Given the description of an element on the screen output the (x, y) to click on. 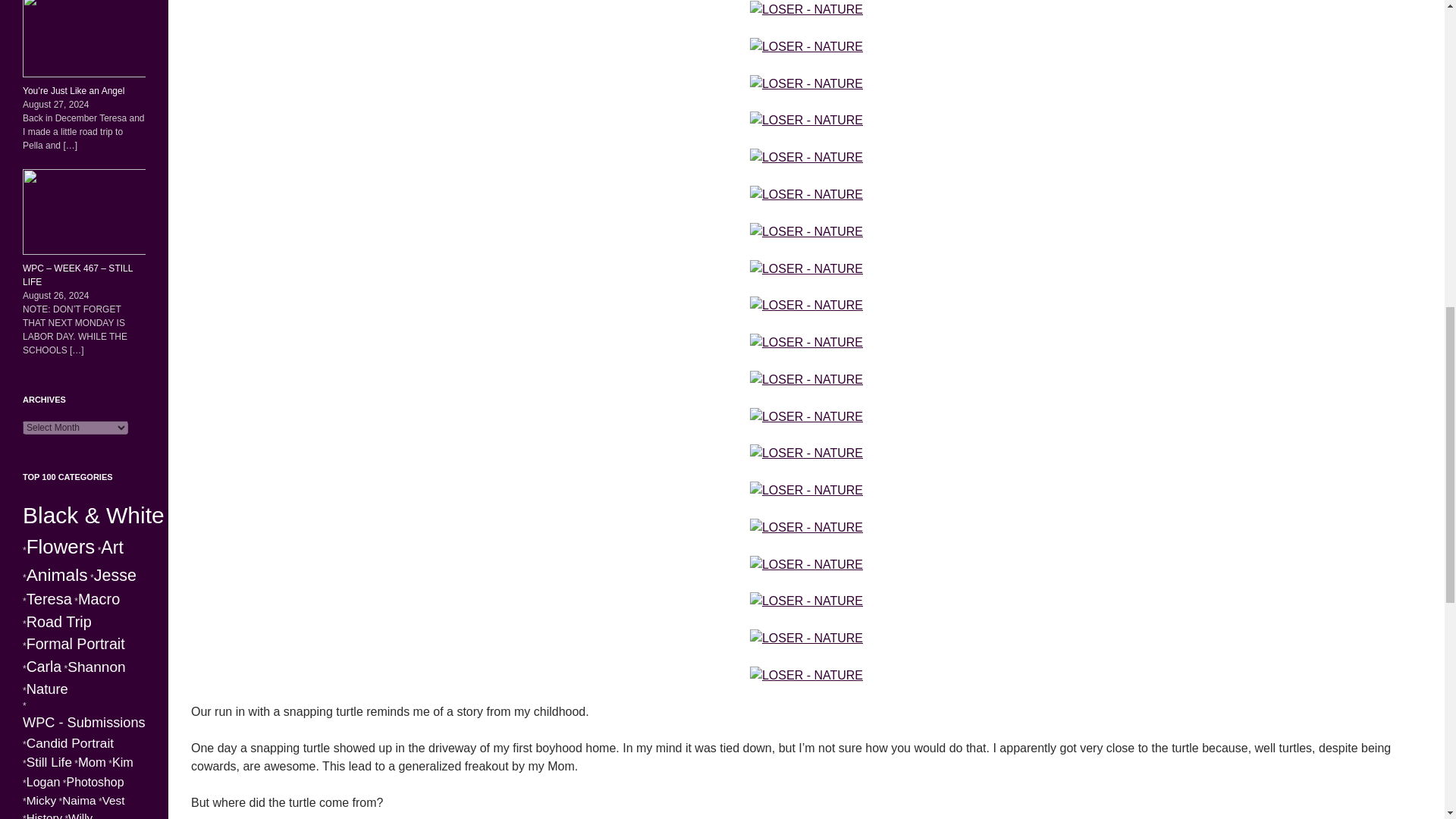
840 topics (56, 574)
1267 topics (93, 514)
765 topics (115, 575)
1025 topics (61, 546)
861 topics (111, 547)
